Given the description of an element on the screen output the (x, y) to click on. 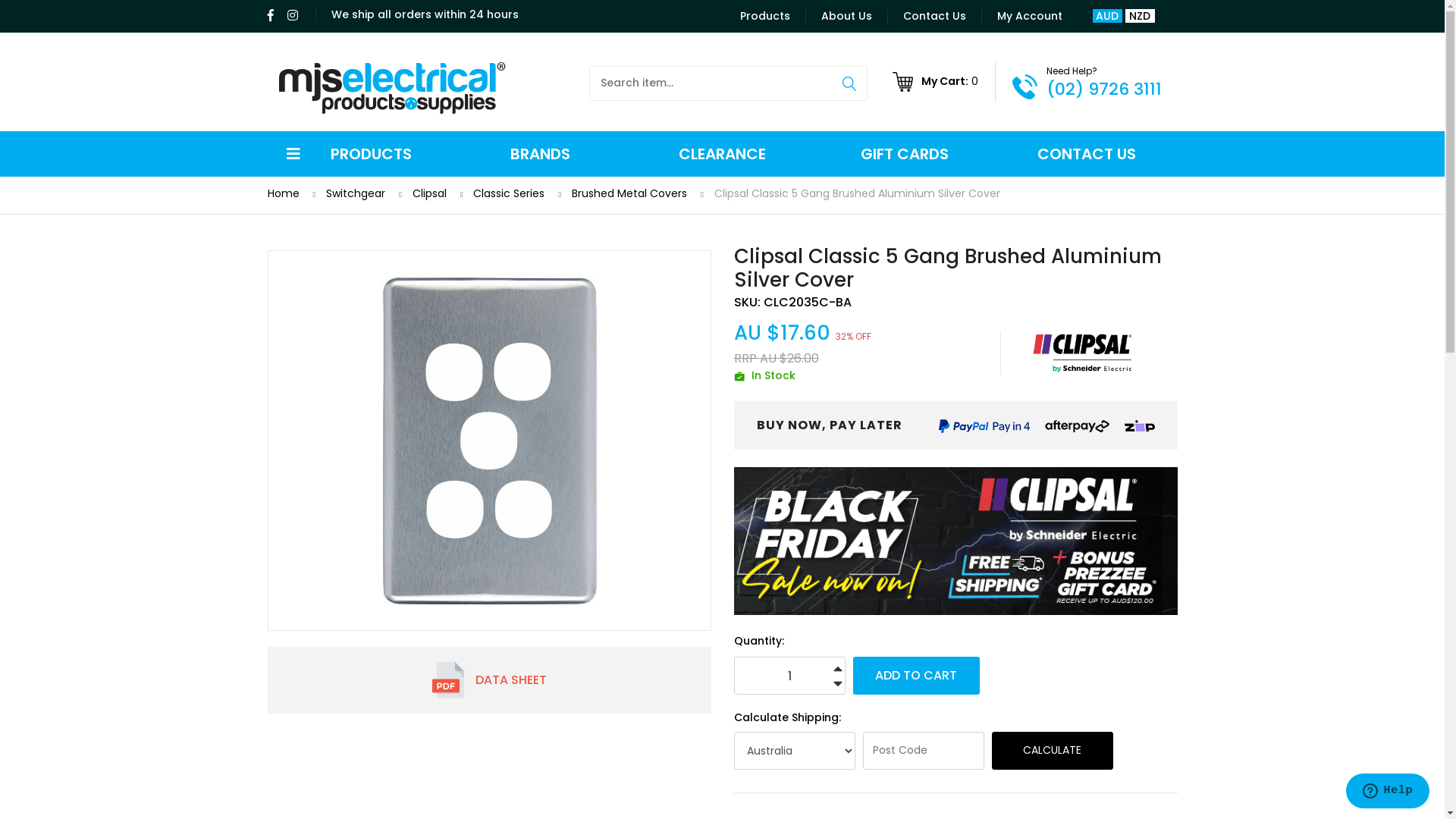
ADD TO CART Element type: text (915, 675)
Clipsal Element type: text (429, 192)
GIFT CARDS Element type: text (903, 153)
Brushed Metal Covers Element type: text (629, 192)
(02) 9726 3111 Element type: text (1103, 88)
CLEARANCE Element type: text (721, 153)
AUD Element type: text (1106, 15)
Classic Series Element type: text (508, 192)
Products Element type: text (765, 16)
Contact Us Element type: text (934, 16)
DATA SHEET Element type: text (489, 680)
My Cart: 0 Element type: text (943, 81)
Clipsal Classic 5 Gang Brushed Aluminium Silver Cover Element type: text (857, 192)
Search Element type: text (848, 83)
Clipsal Element type: hover (1082, 352)
About Us Element type: text (846, 16)
BRANDS Element type: text (539, 153)
CONTACT US Element type: text (1085, 153)
CALCULATE Element type: text (1052, 750)
My Account Element type: text (1021, 15)
Switchgear Element type: text (355, 192)
Home Element type: text (282, 192)
Opens a widget where you can chat to one of our agents Element type: hover (1387, 792)
MJS Electrical Products & Supplies Element type: hover (392, 87)
NZD Element type: text (1139, 15)
PRODUCTS Element type: text (357, 153)
